Given the description of an element on the screen output the (x, y) to click on. 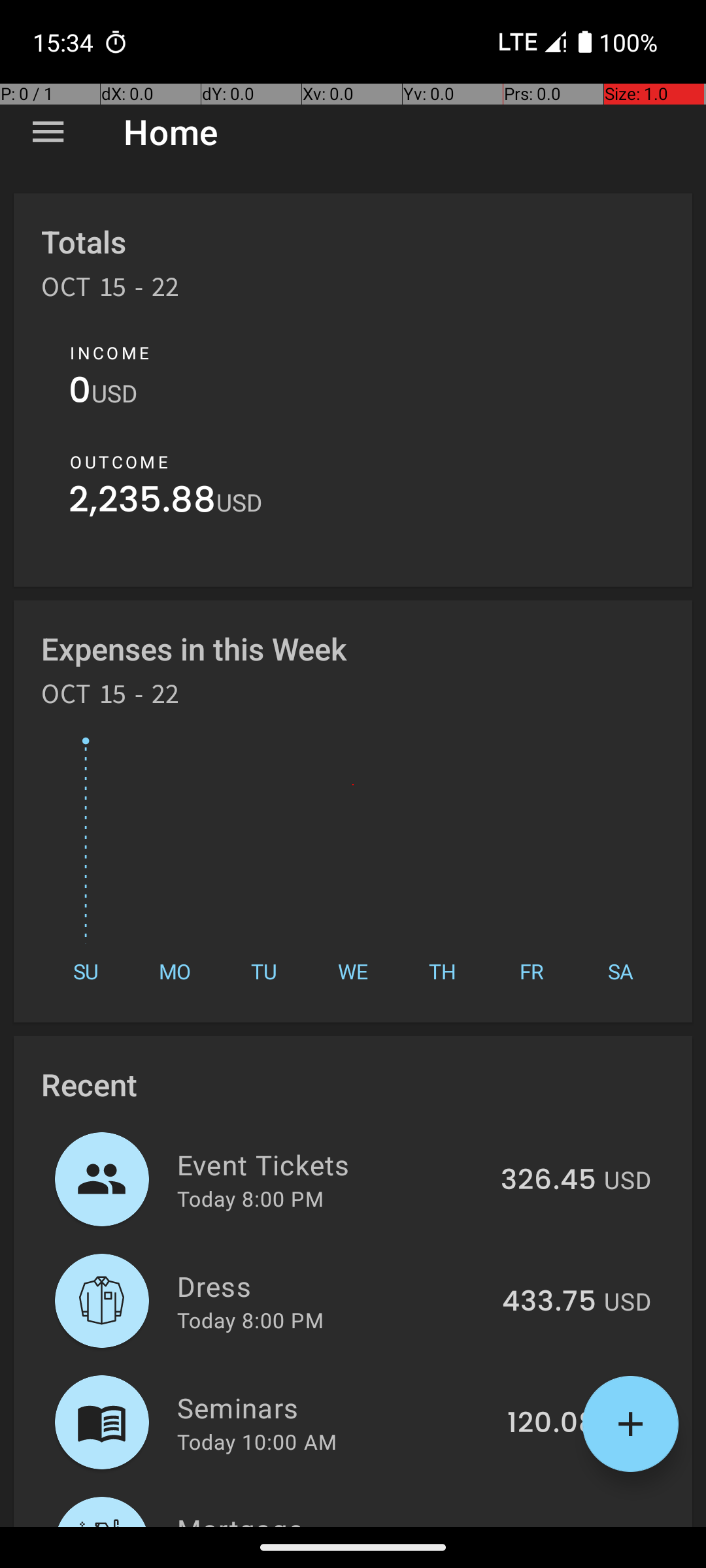
2,235.88 Element type: android.widget.TextView (142, 502)
326.45 Element type: android.widget.TextView (548, 1180)
Dress Element type: android.widget.TextView (331, 1285)
433.75 Element type: android.widget.TextView (548, 1301)
Seminars Element type: android.widget.TextView (334, 1407)
Today 10:00 AM Element type: android.widget.TextView (256, 1441)
120.08 Element type: android.widget.TextView (551, 1423)
74.08 Element type: android.widget.TextView (556, 1524)
